Given the description of an element on the screen output the (x, y) to click on. 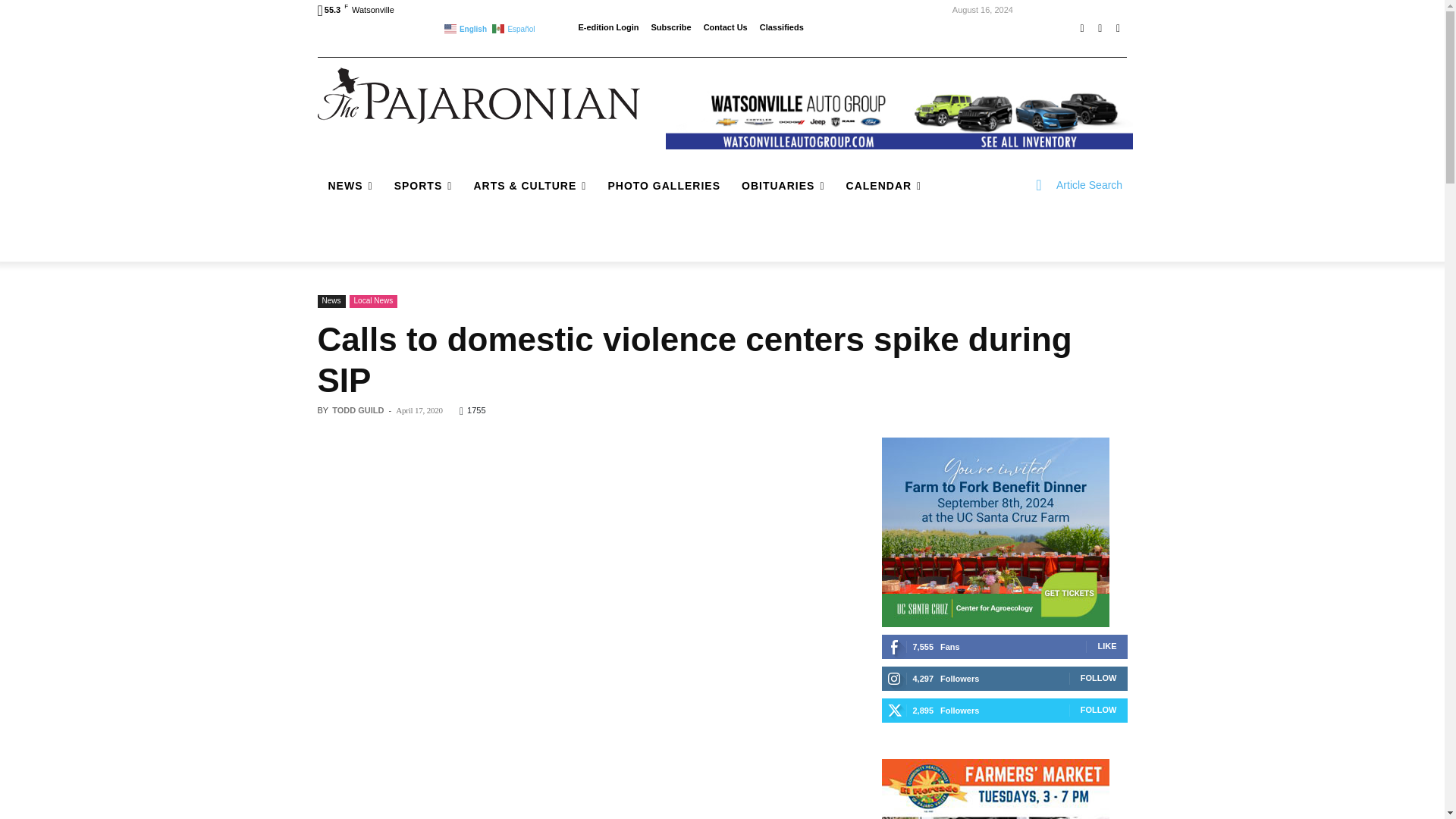
Subscribe (670, 27)
Contact Us (725, 27)
Twitter (1117, 28)
English (466, 27)
Facebook (1081, 28)
Instagram (1099, 28)
E-edition Login (608, 27)
